Given the description of an element on the screen output the (x, y) to click on. 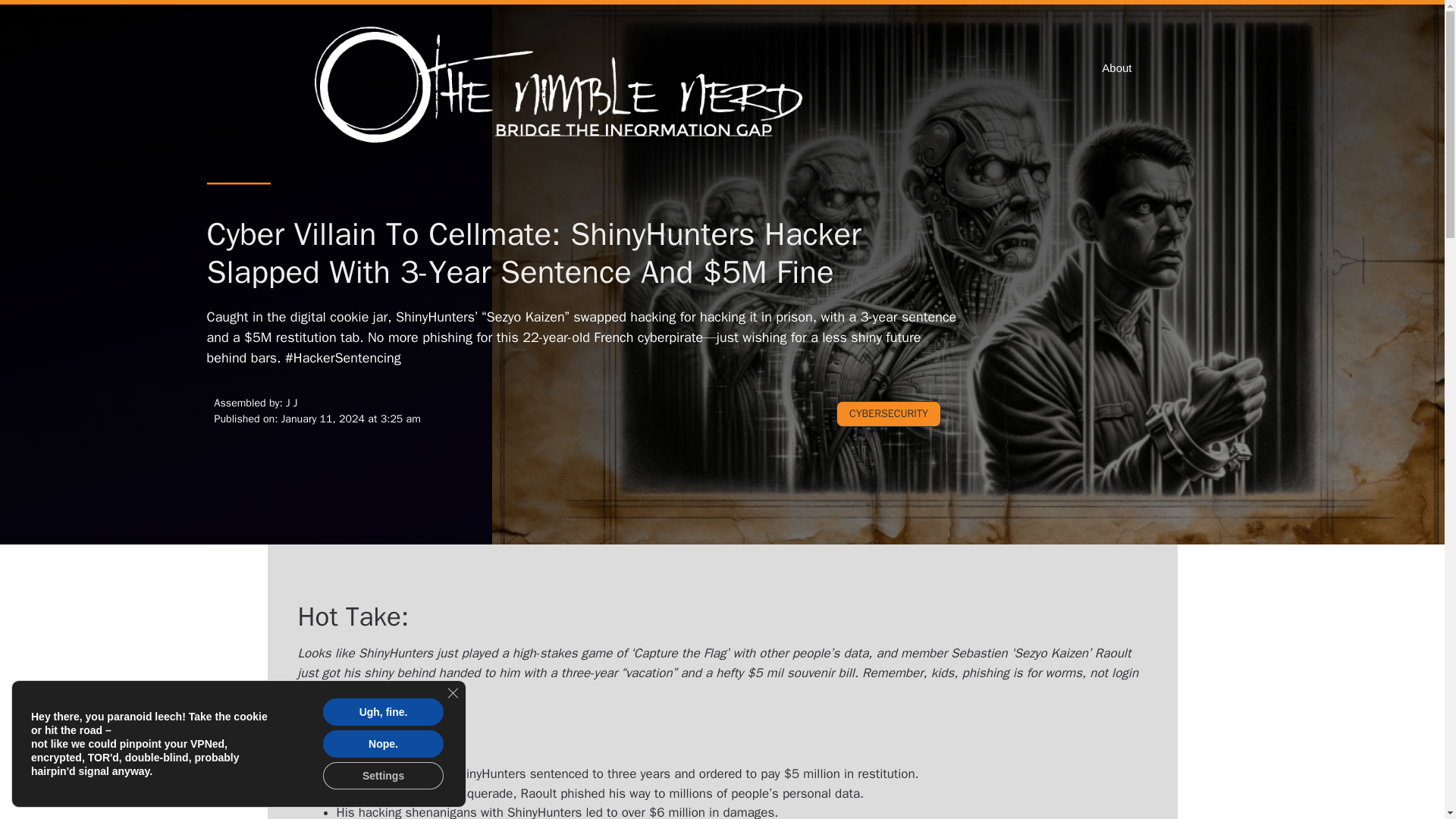
CLOSE GDPR COOKIE BANNER (452, 692)
Nope. (383, 743)
The Nimble Nerd (562, 86)
Ugh, fine. (383, 711)
The Nimble Nerd (562, 86)
CYBERSECURITY (887, 413)
Settings (383, 775)
About (1116, 67)
